Given the description of an element on the screen output the (x, y) to click on. 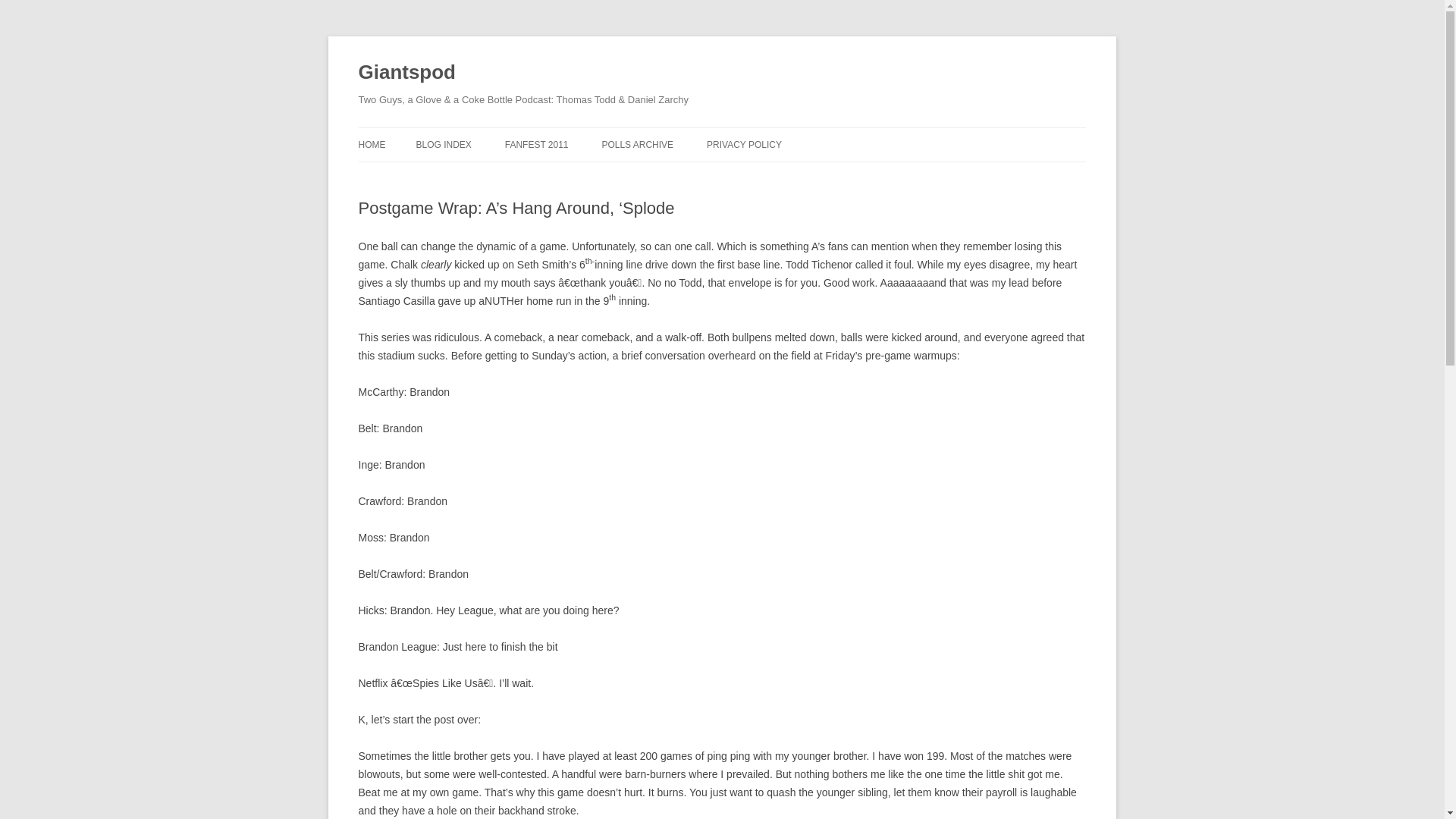
PRIVACY POLICY (743, 144)
DAVID SCHUBERT (676, 176)
FANFEST 2011 (537, 144)
Giantspod (406, 72)
BLOG INDEX (442, 144)
POLLS ARCHIVE (636, 144)
